Given the description of an element on the screen output the (x, y) to click on. 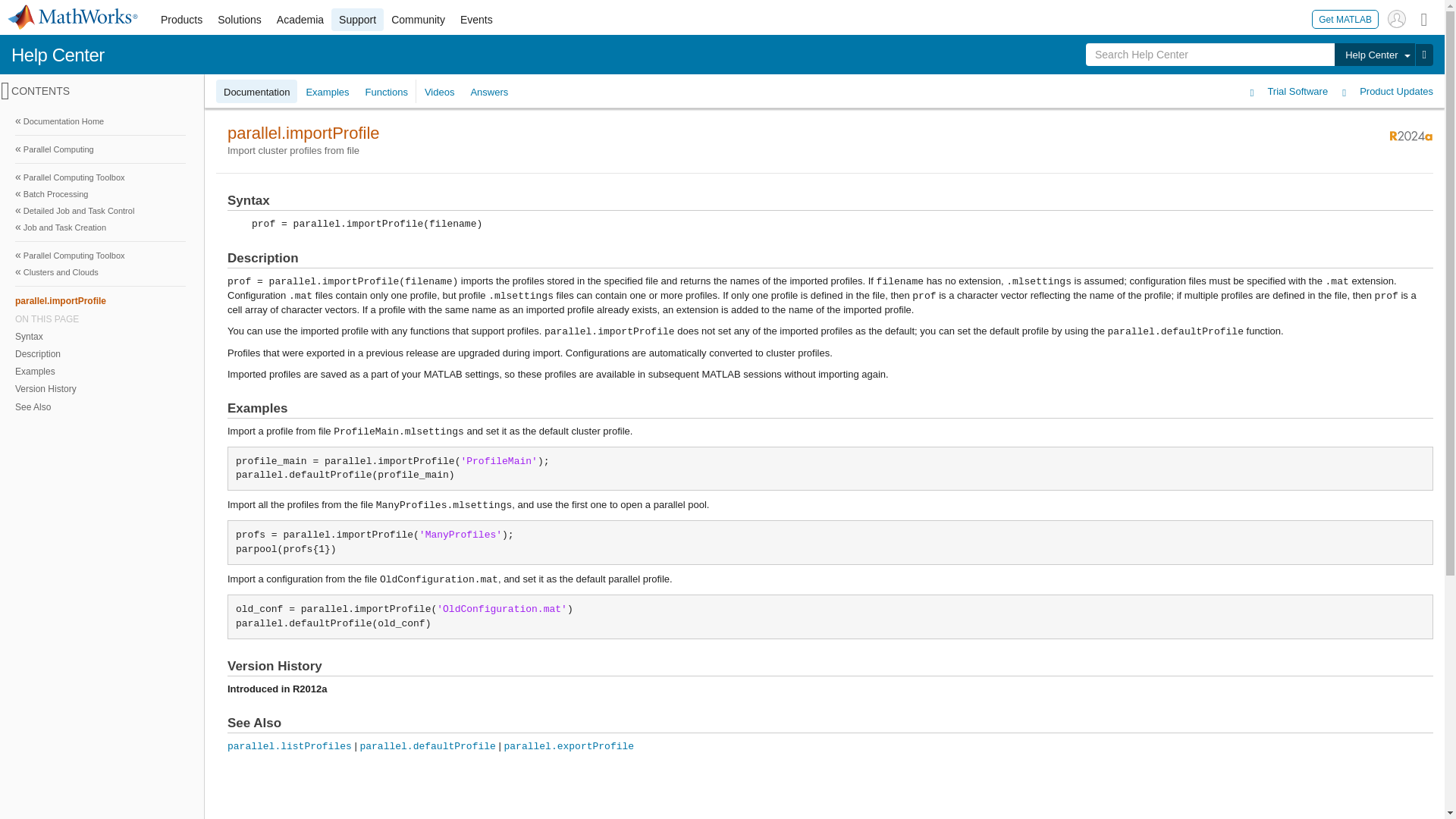
Academia (300, 19)
Get MATLAB (1344, 18)
Support (357, 19)
ON THIS PAGE (100, 318)
Events (476, 19)
Community (418, 19)
Matrix Menu (1423, 18)
Sign In to Your MathWorks Account (1396, 18)
Solutions (239, 19)
Products (180, 19)
parallel.importProfile (100, 300)
